Given the description of an element on the screen output the (x, y) to click on. 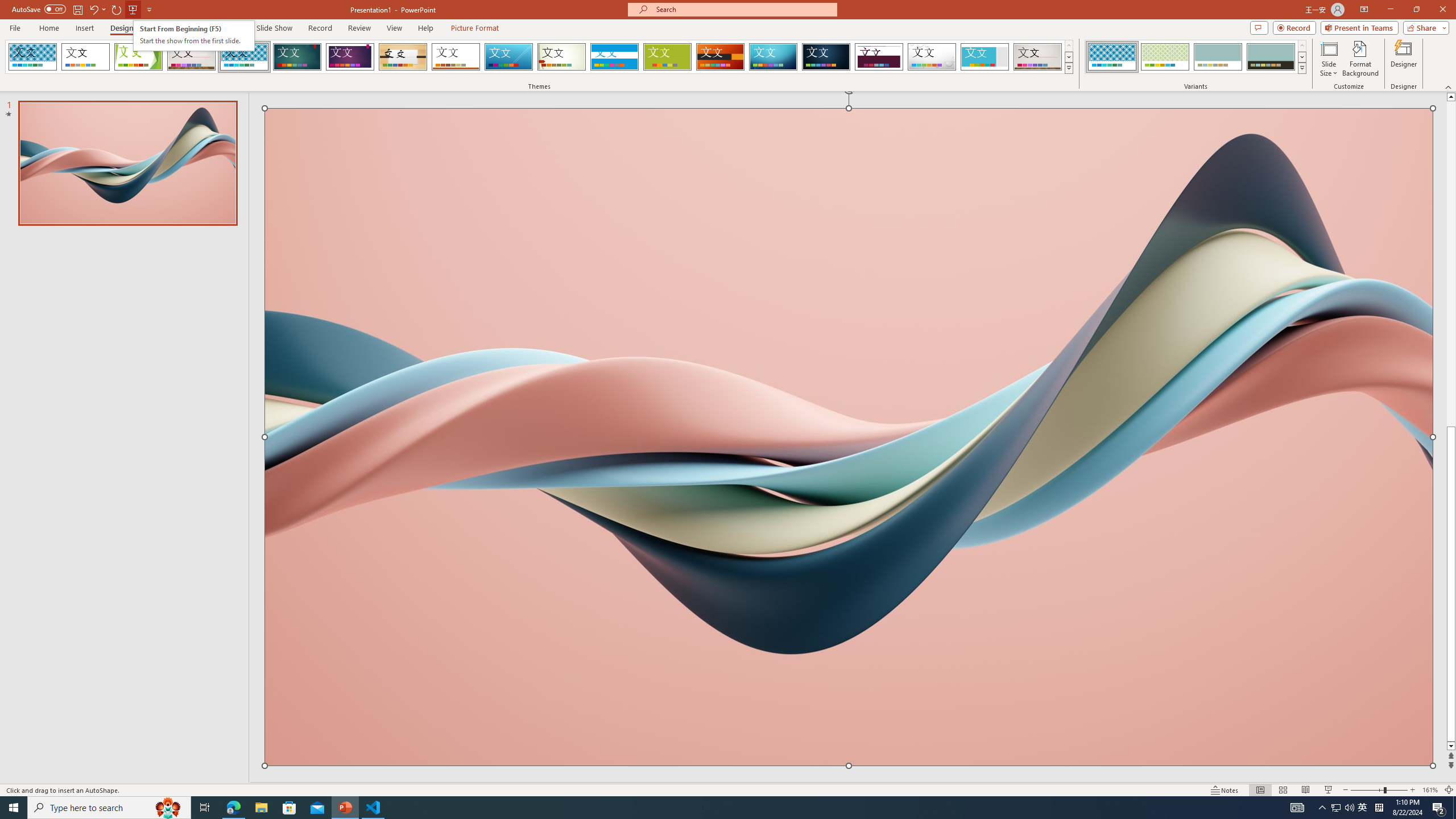
Droplet (931, 56)
Banded (614, 56)
Picture Format (475, 28)
Ion Boardroom (350, 56)
Integral Variant 1 (1112, 56)
AutomationID: ThemeVariantsGallery (1195, 56)
Integral (244, 56)
Berlin (720, 56)
